Given the description of an element on the screen output the (x, y) to click on. 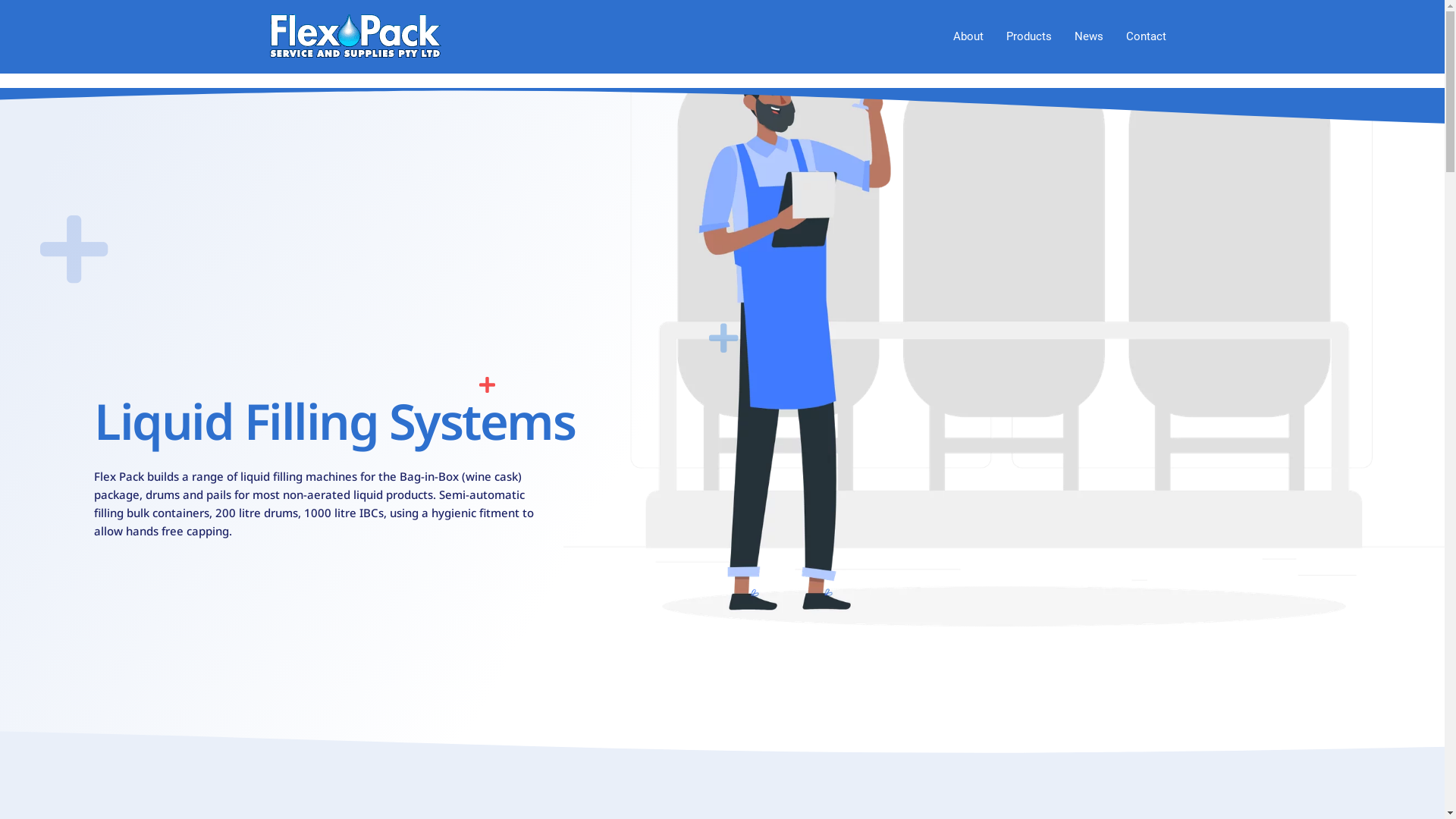
About Element type: text (967, 36)
Products Element type: text (1028, 36)
Contact Element type: text (1145, 36)
News Element type: text (1088, 36)
